Given the description of an element on the screen output the (x, y) to click on. 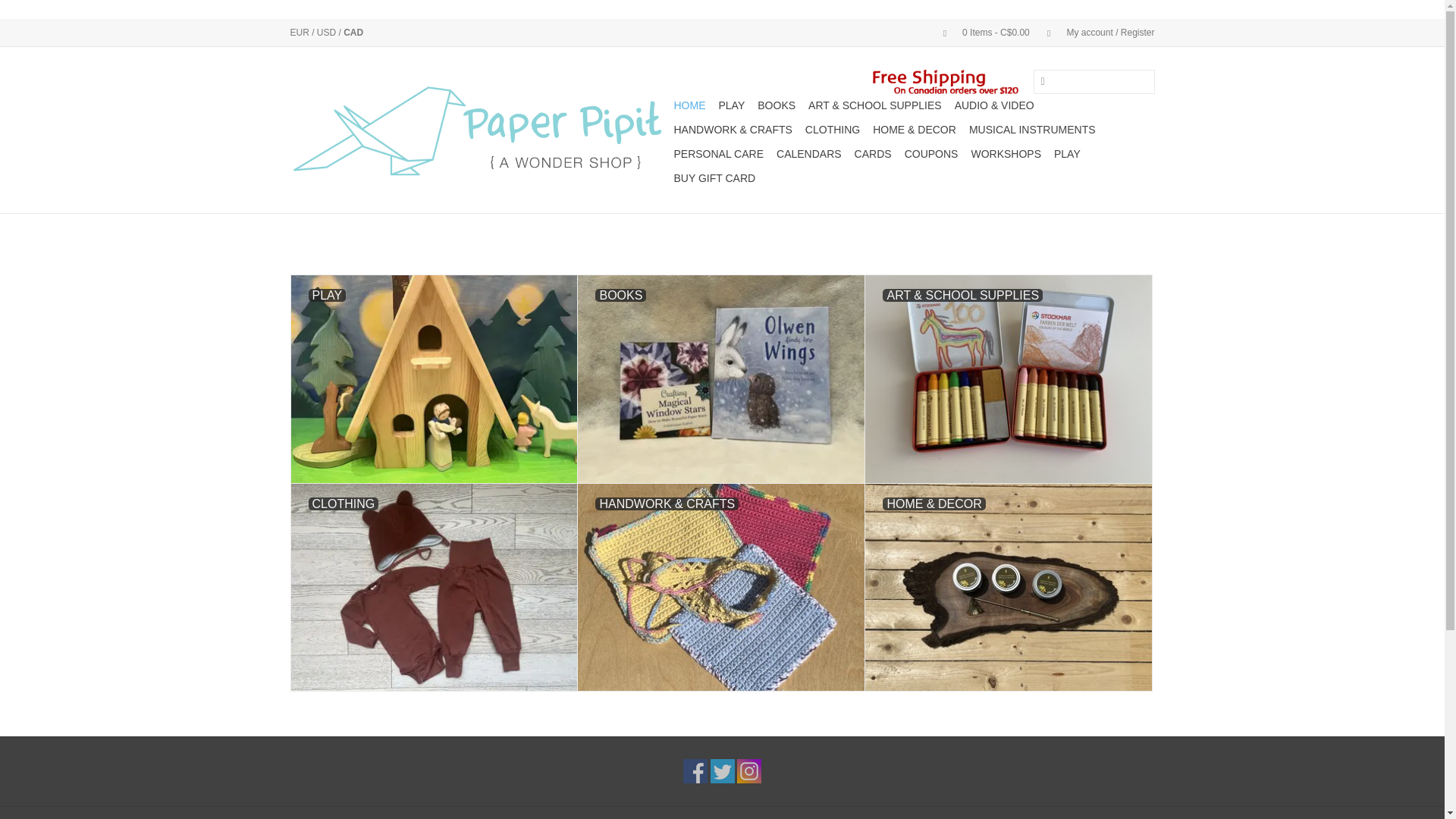
Paper Pipit (478, 129)
usd (328, 32)
USD (328, 32)
EUR (300, 32)
cad (352, 32)
HOME (689, 105)
CAD (352, 32)
BOOKS (775, 105)
 Play (731, 105)
My account (1093, 32)
eur (300, 32)
PLAY (731, 105)
Cart (980, 32)
